Given the description of an element on the screen output the (x, y) to click on. 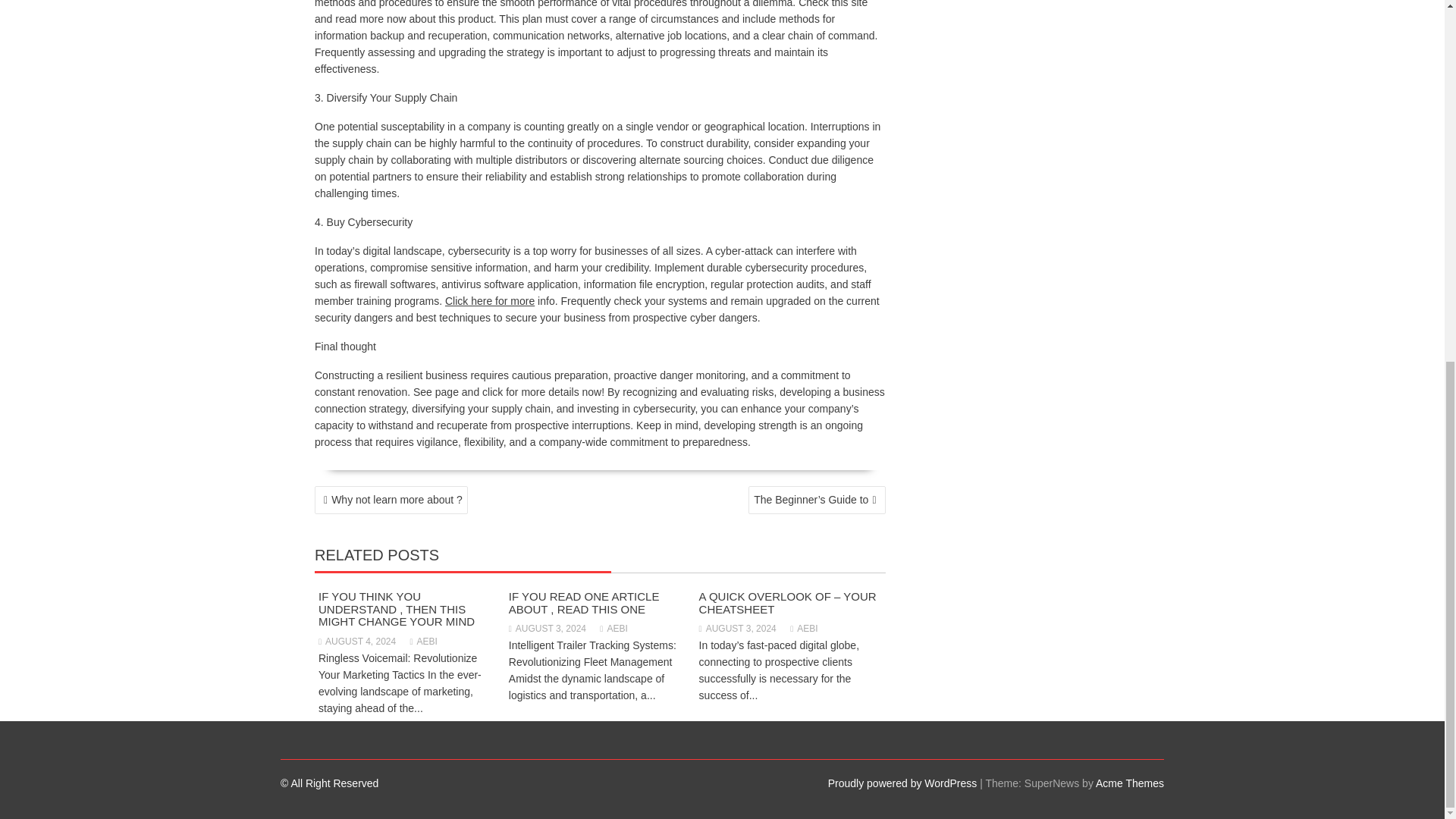
AEBI (613, 628)
Acme Themes (1129, 783)
Why not learn more about ? (390, 500)
AEBI (803, 628)
Click here for more (489, 300)
AUGUST 3, 2024 (737, 628)
AUGUST 4, 2024 (357, 641)
Proudly powered by WordPress (902, 783)
IF YOU READ ONE ARTICLE ABOUT , READ THIS ONE (583, 602)
AUGUST 3, 2024 (547, 628)
AEBI (424, 641)
